Given the description of an element on the screen output the (x, y) to click on. 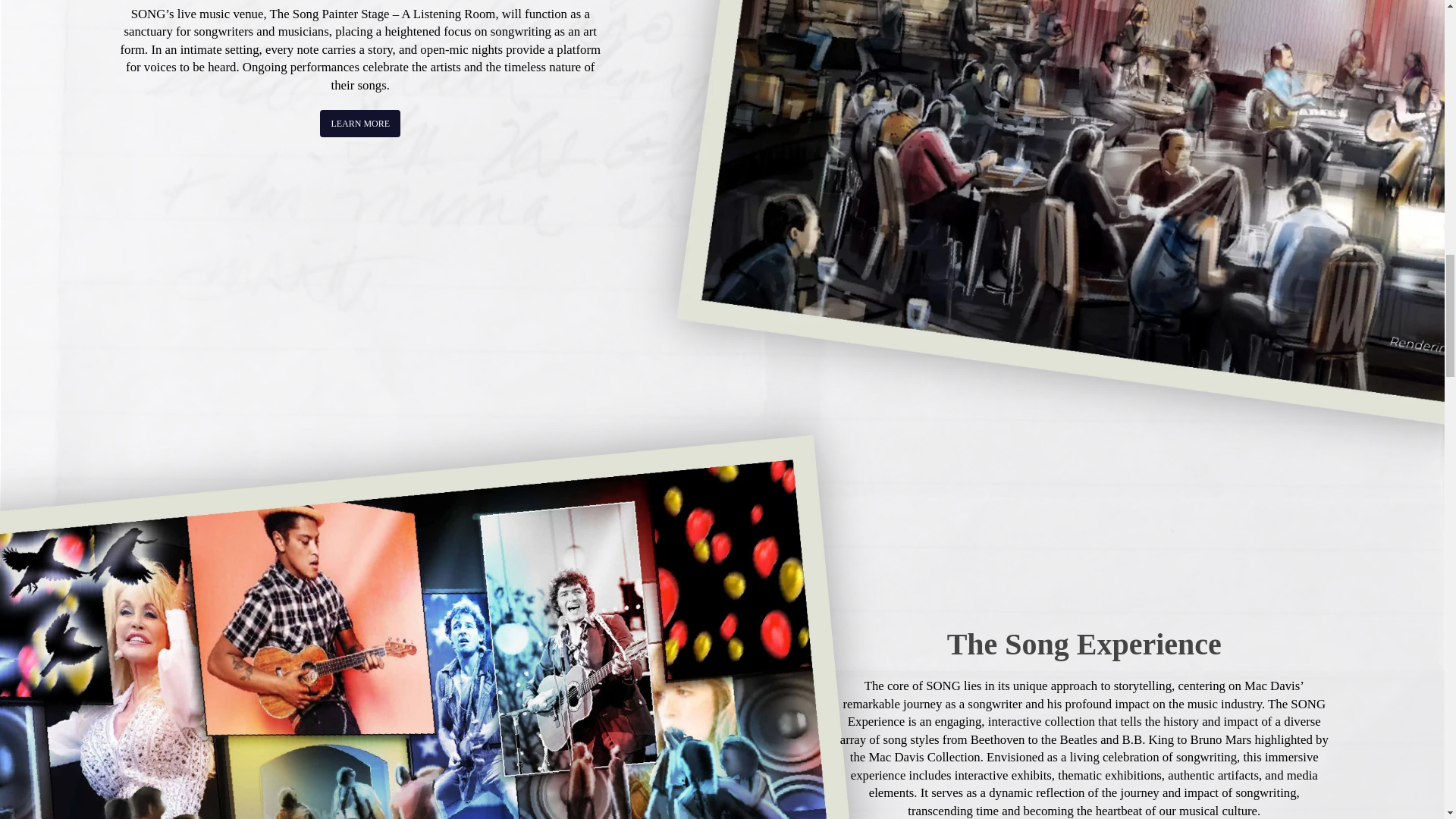
LEARN MORE (360, 123)
